Given the description of an element on the screen output the (x, y) to click on. 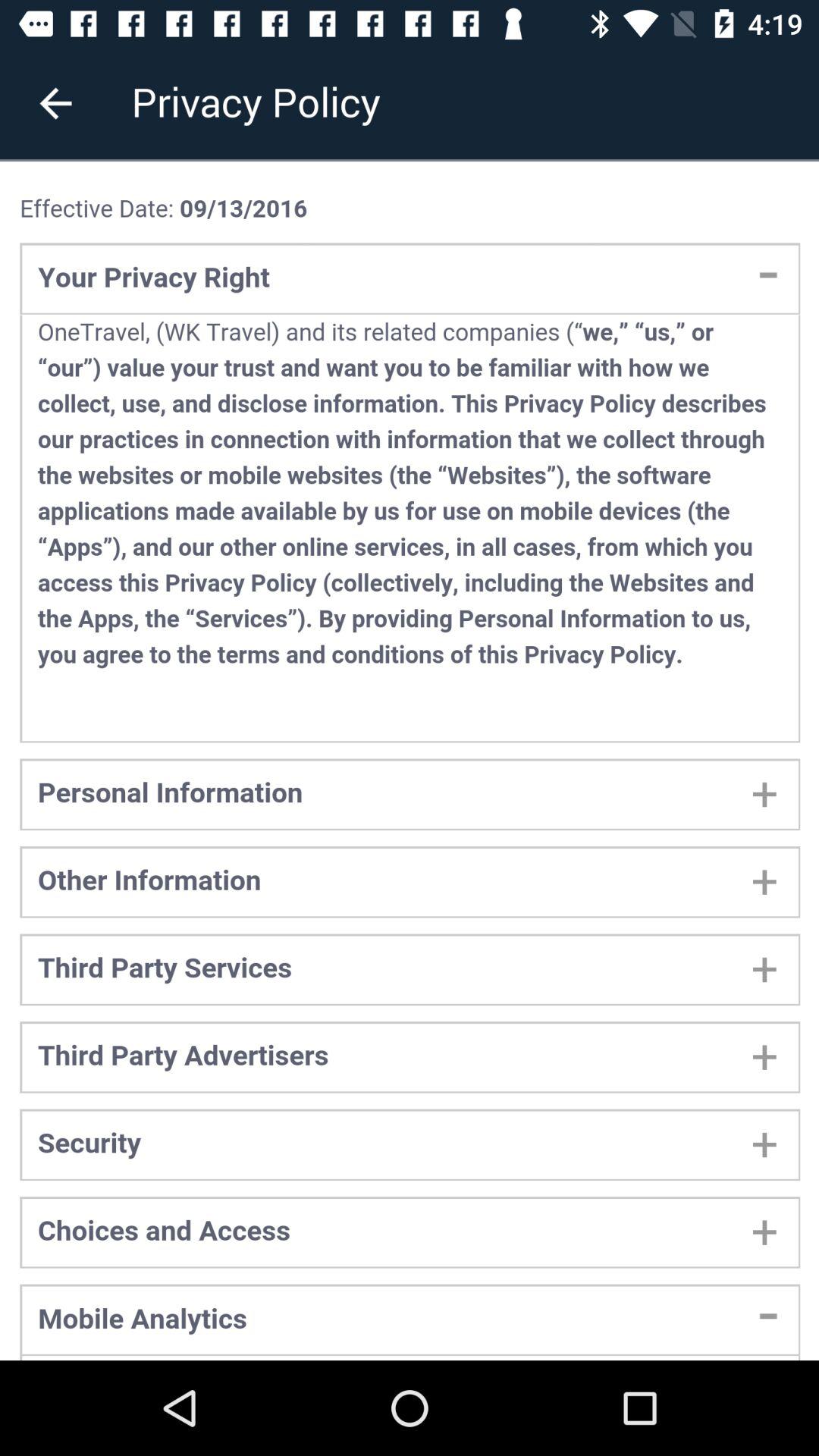
setting page (409, 760)
